Given the description of an element on the screen output the (x, y) to click on. 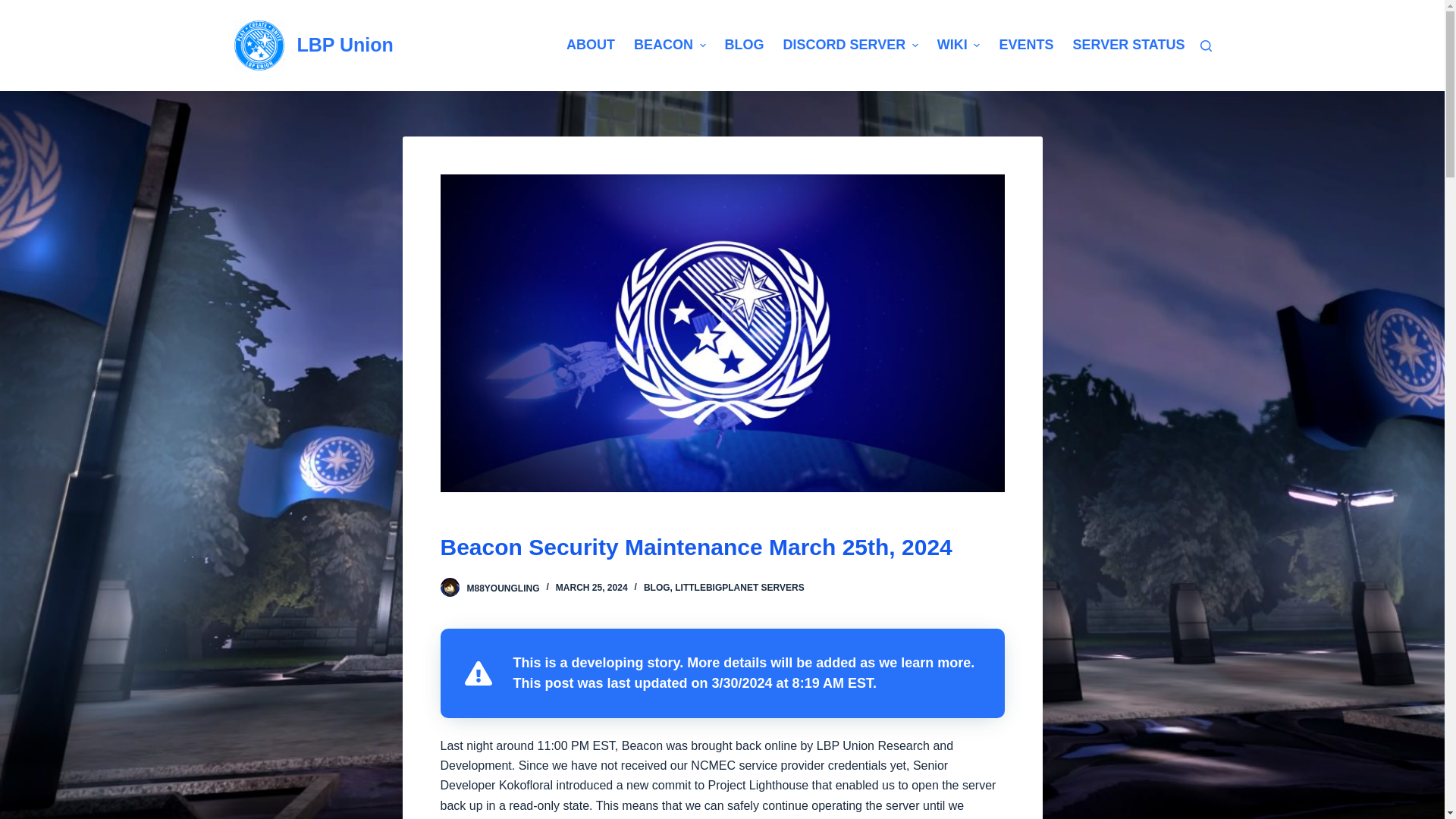
Beacon Security Maintenance March 25th, 2024 (721, 546)
LITTLEBIGPLANET SERVERS (739, 587)
Posts by m88youngling (503, 587)
BLOG (656, 587)
Skip to content (15, 7)
DISCORD SERVER (850, 45)
SERVER STATUS (1123, 45)
M88YOUNGLING (503, 587)
BEACON (669, 45)
LBP Union (345, 44)
